Given the description of an element on the screen output the (x, y) to click on. 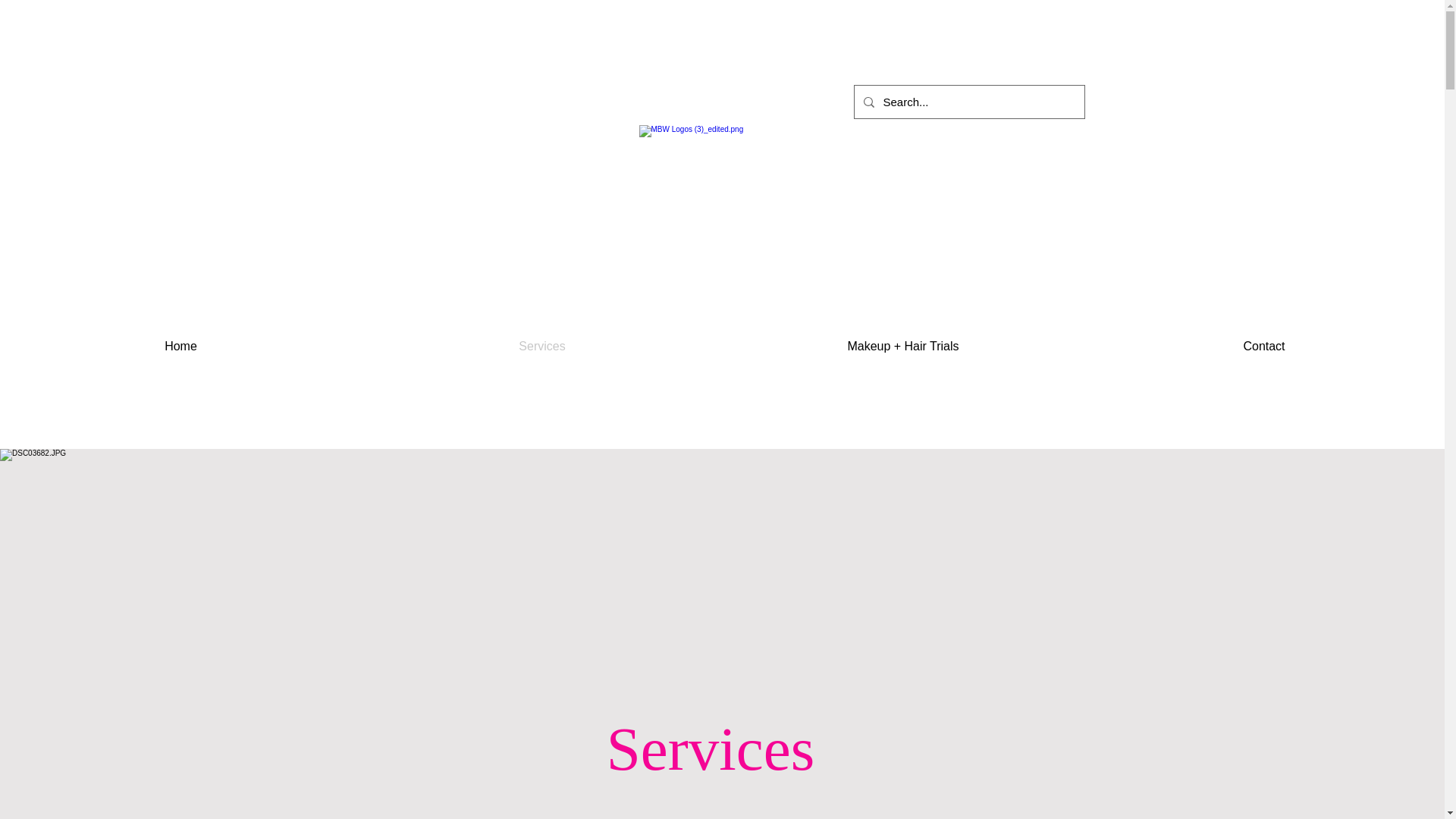
Home (180, 346)
Services (541, 346)
Log In (970, 259)
